Given the description of an element on the screen output the (x, y) to click on. 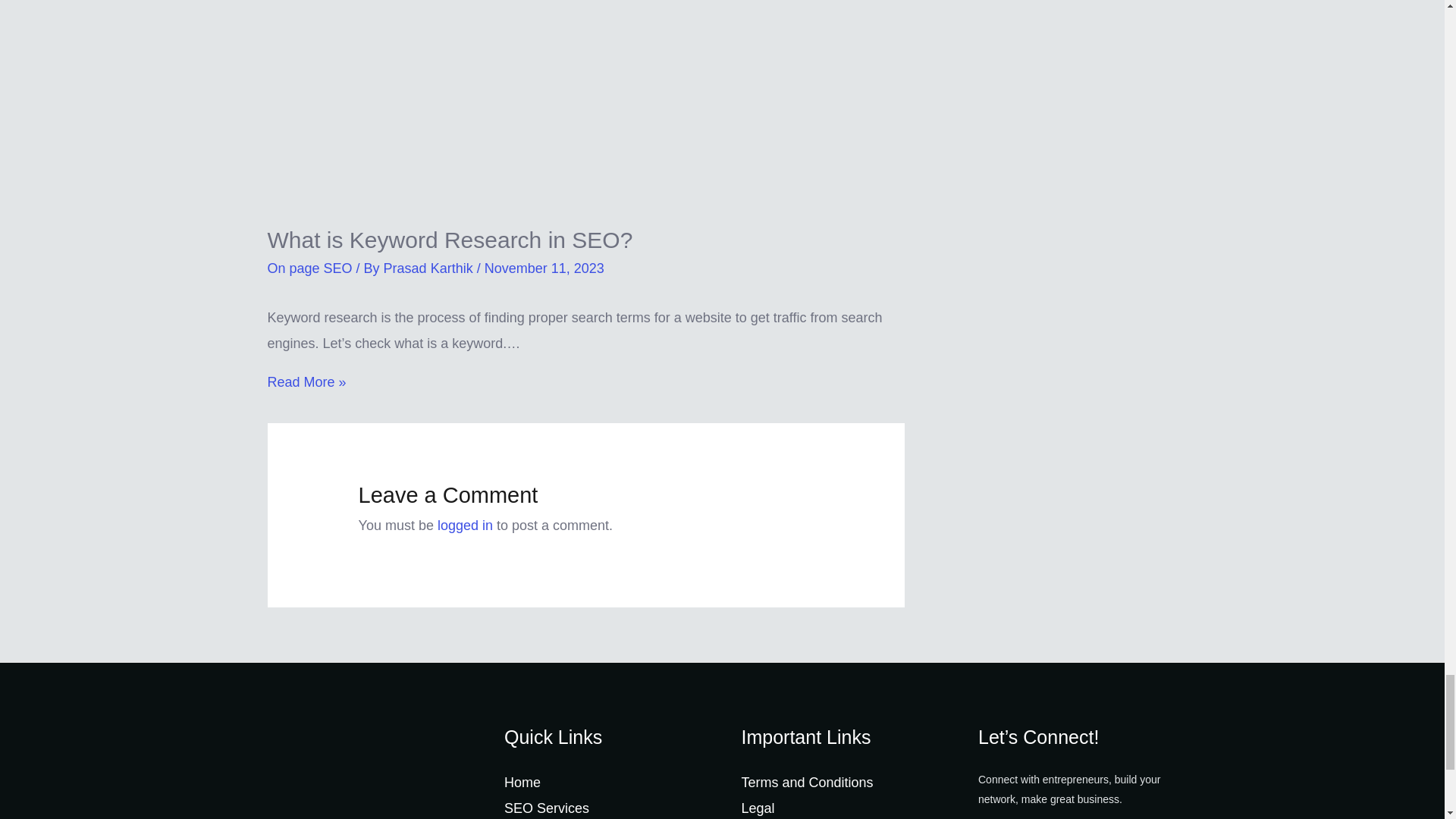
View all posts by Prasad Karthik (430, 268)
